Given the description of an element on the screen output the (x, y) to click on. 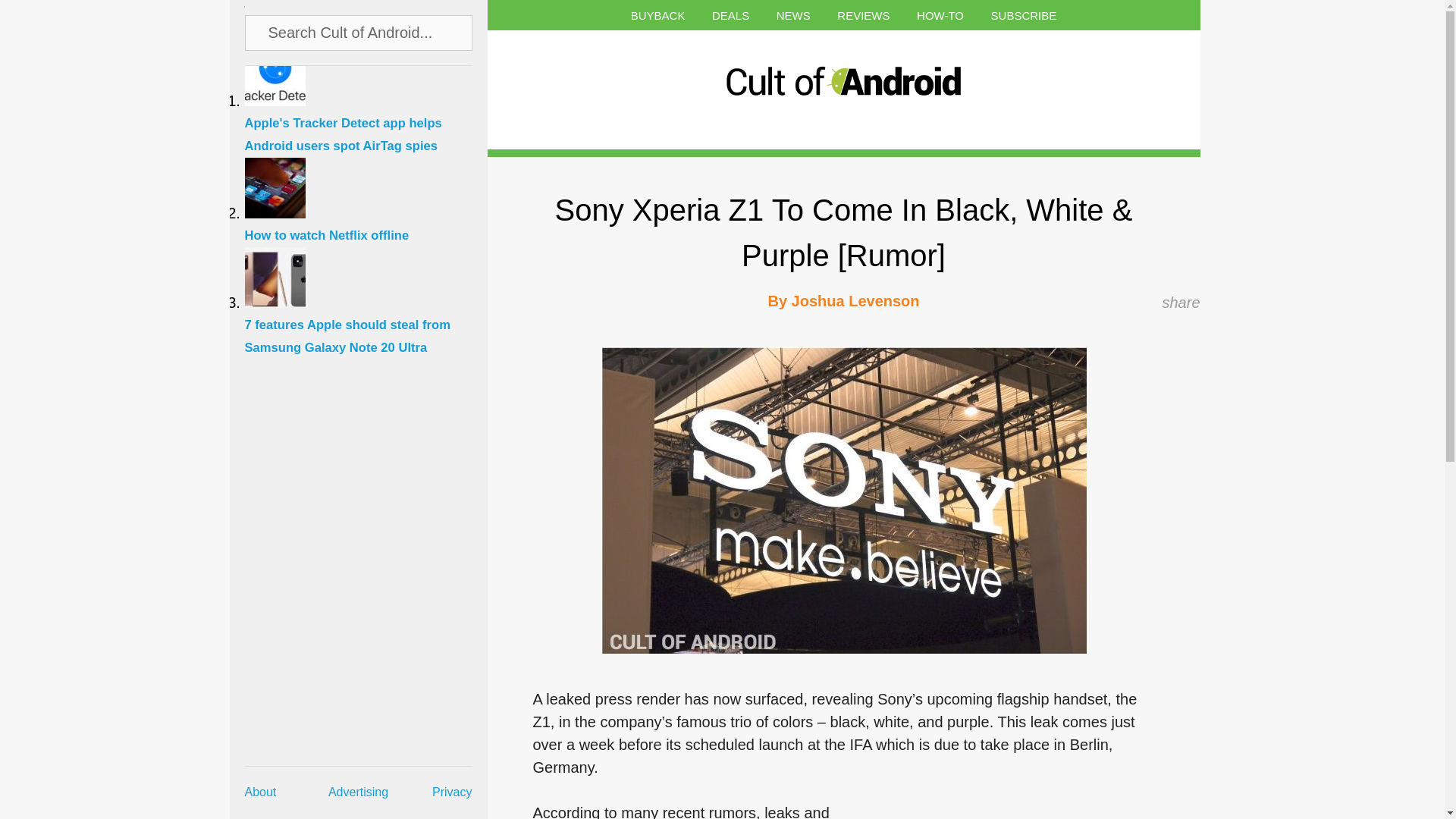
About (260, 791)
Advertising (358, 791)
SUBSCRIBE (1024, 15)
share (1180, 302)
Search Cult of Android... (358, 32)
How to watch Netflix offline (365, 225)
HOW-TO (940, 15)
REVIEWS (863, 15)
Joshua Levenson (856, 300)
BUYBACK (657, 15)
Search Cult of Android... (358, 32)
Posts by Joshua Levenson (856, 300)
NEWS (793, 15)
Privacy (451, 791)
